Given the description of an element on the screen output the (x, y) to click on. 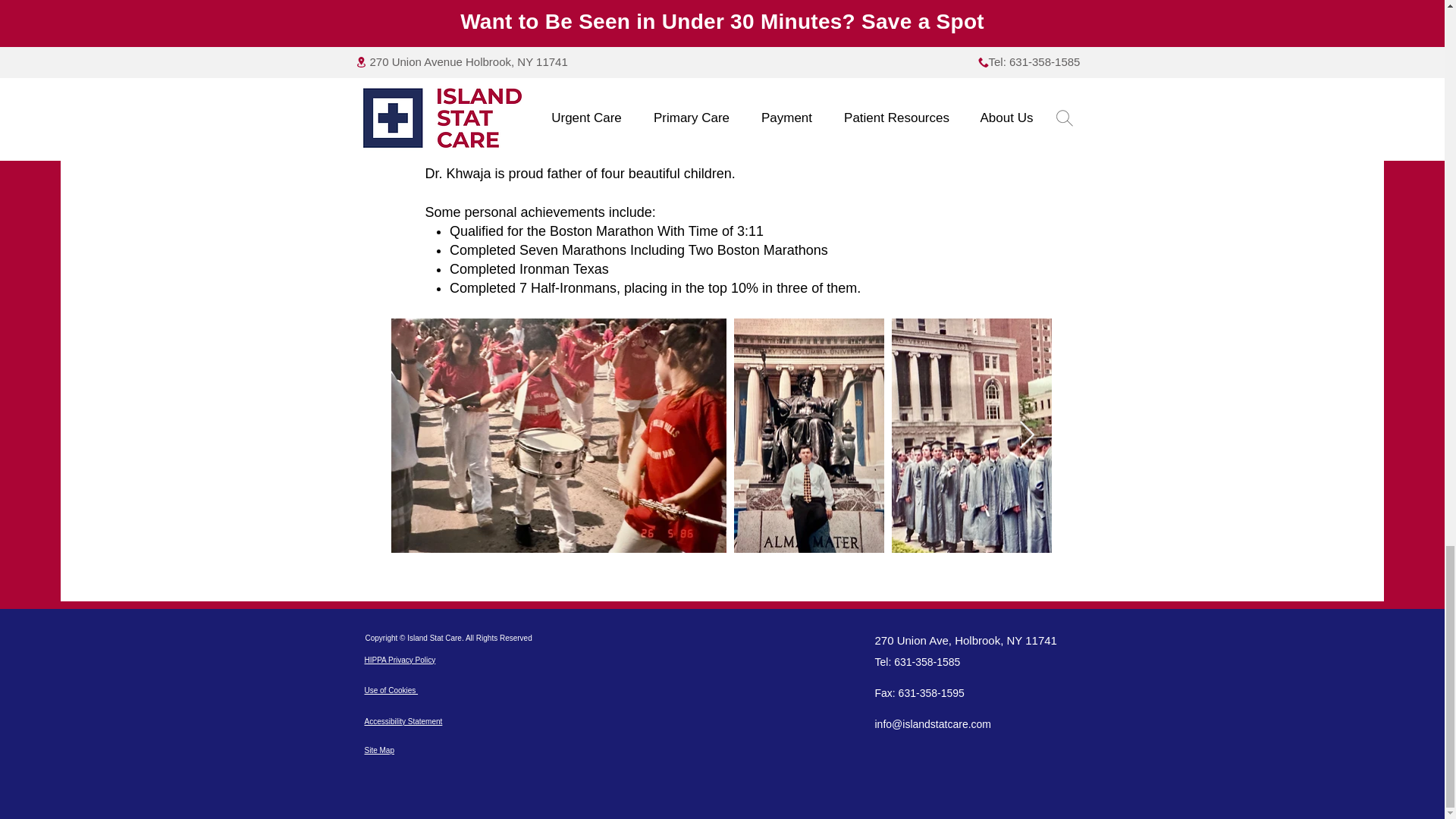
Site Map (378, 750)
HIPPA Privacy Policy (399, 660)
Accessibility Statement (403, 721)
Use of Cookies  (390, 690)
